Given the description of an element on the screen output the (x, y) to click on. 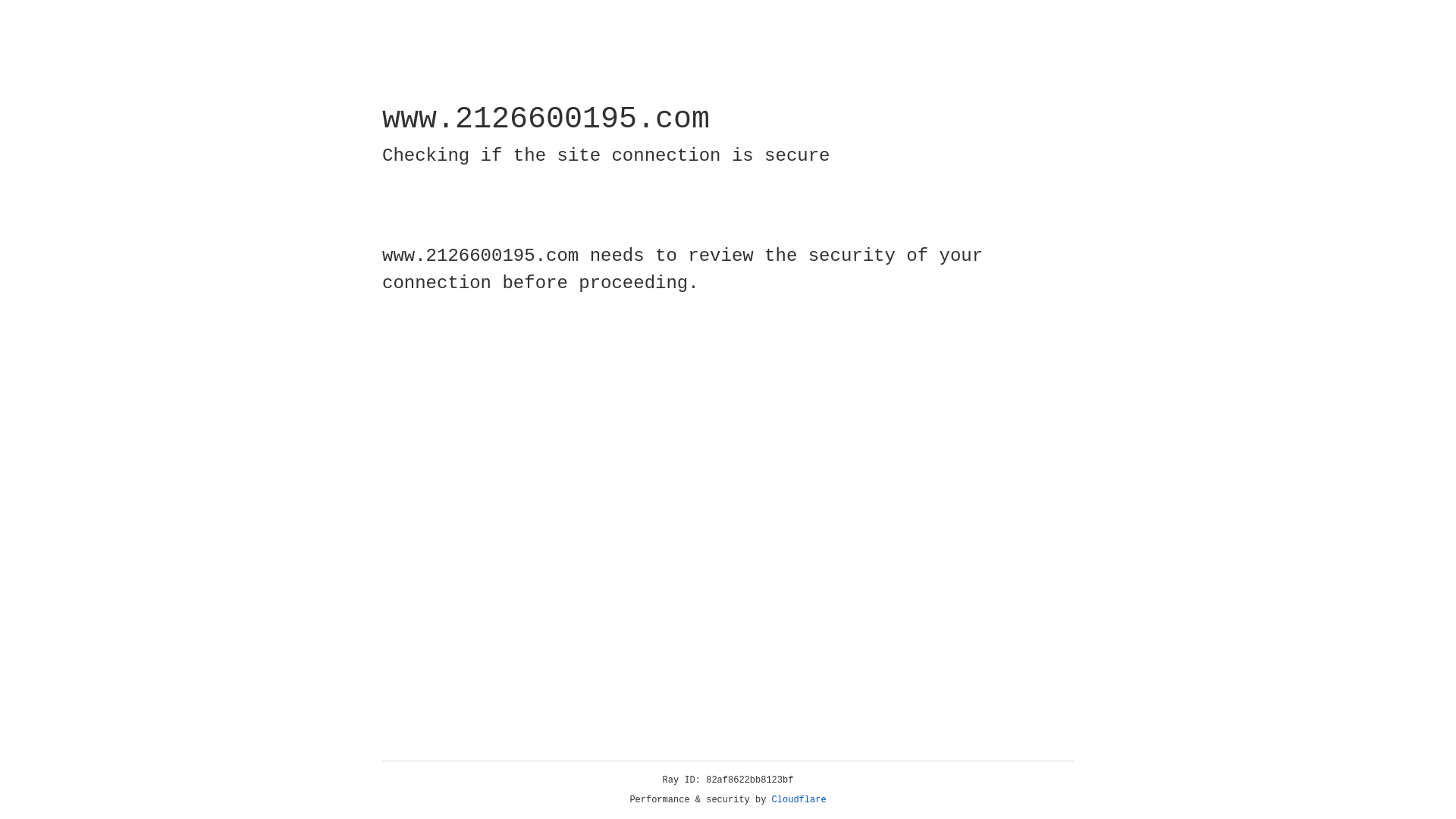
Cloudflare Element type: text (798, 799)
